Given the description of an element on the screen output the (x, y) to click on. 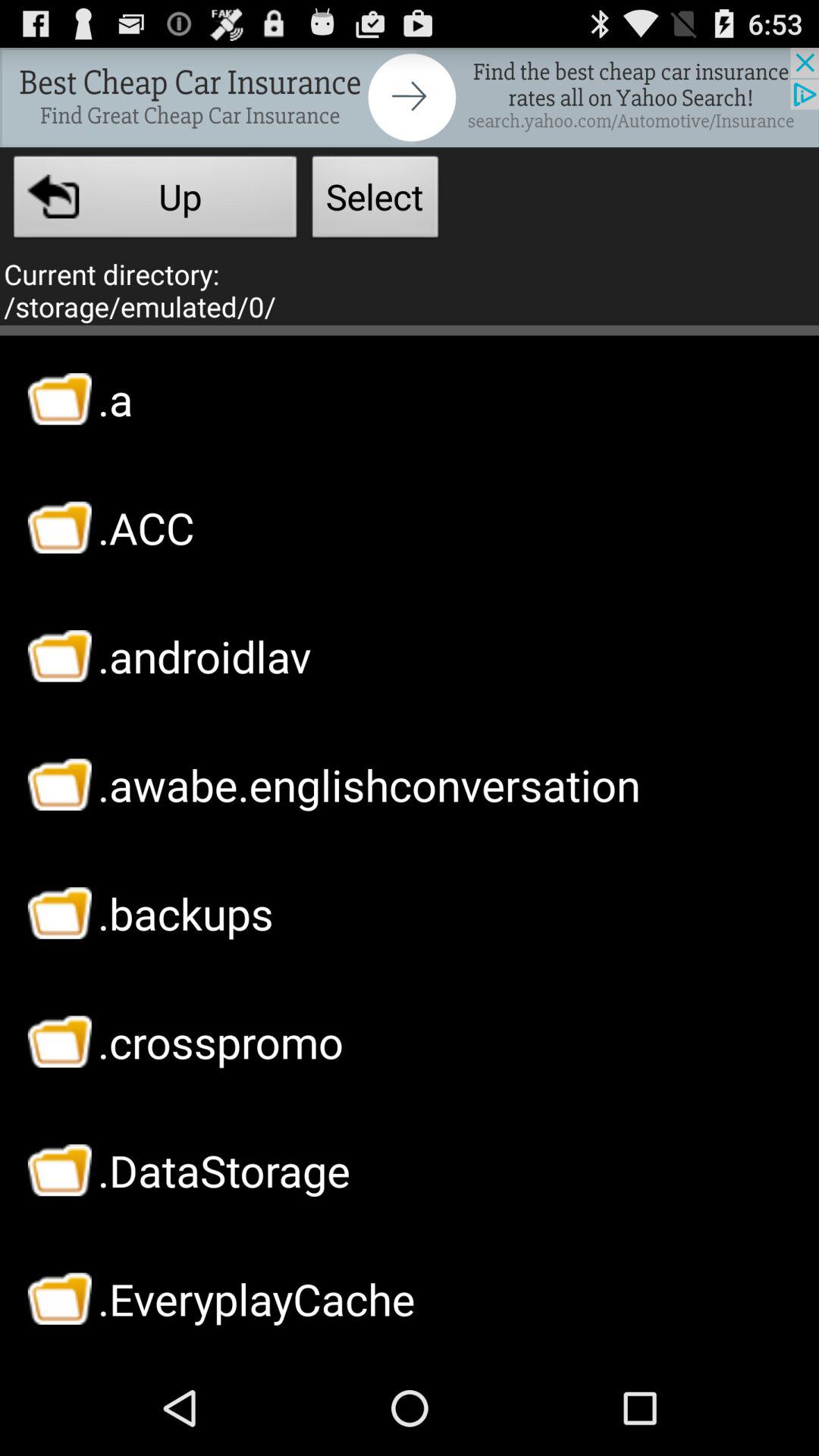
choose the selection (409, 97)
